Given the description of an element on the screen output the (x, y) to click on. 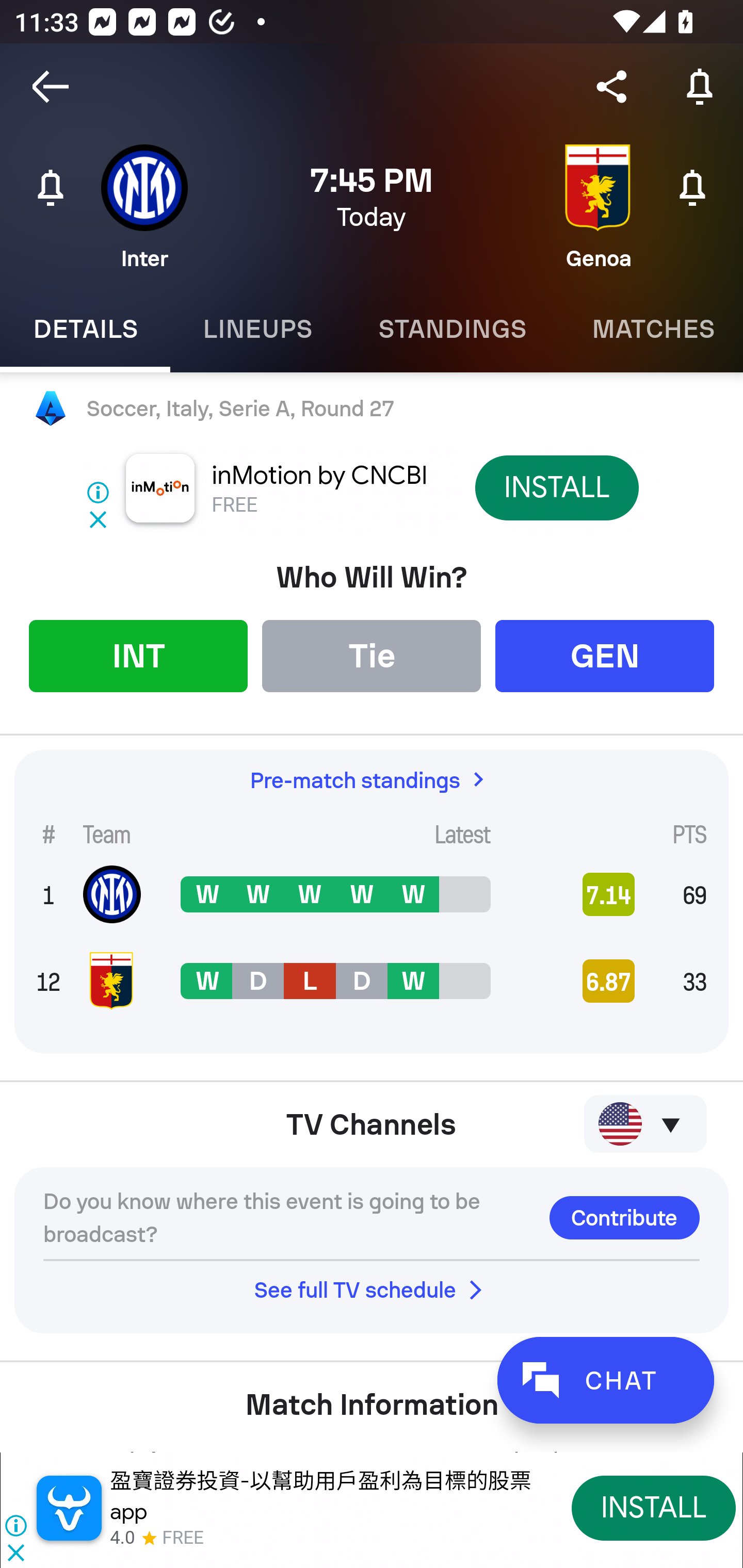
Navigate up (50, 86)
Lineups LINEUPS (257, 329)
Standings STANDINGS (451, 329)
Matches MATCHES (650, 329)
Soccer, Italy, Serie A, Round 27 (371, 409)
INSTALL (556, 487)
inMotion by CNCBI (319, 475)
FREE (234, 505)
INT (137, 655)
Tie (371, 655)
GEN (604, 655)
Contribute (624, 1217)
See full TV schedule (371, 1289)
CHAT (605, 1380)
盈寶證券投資-以幫助用戶盈利為目標的股票 app 盈寶證券投資-以幫助用戶盈利為目標的股票 app (320, 1496)
INSTALL (654, 1507)
